Given the description of an element on the screen output the (x, y) to click on. 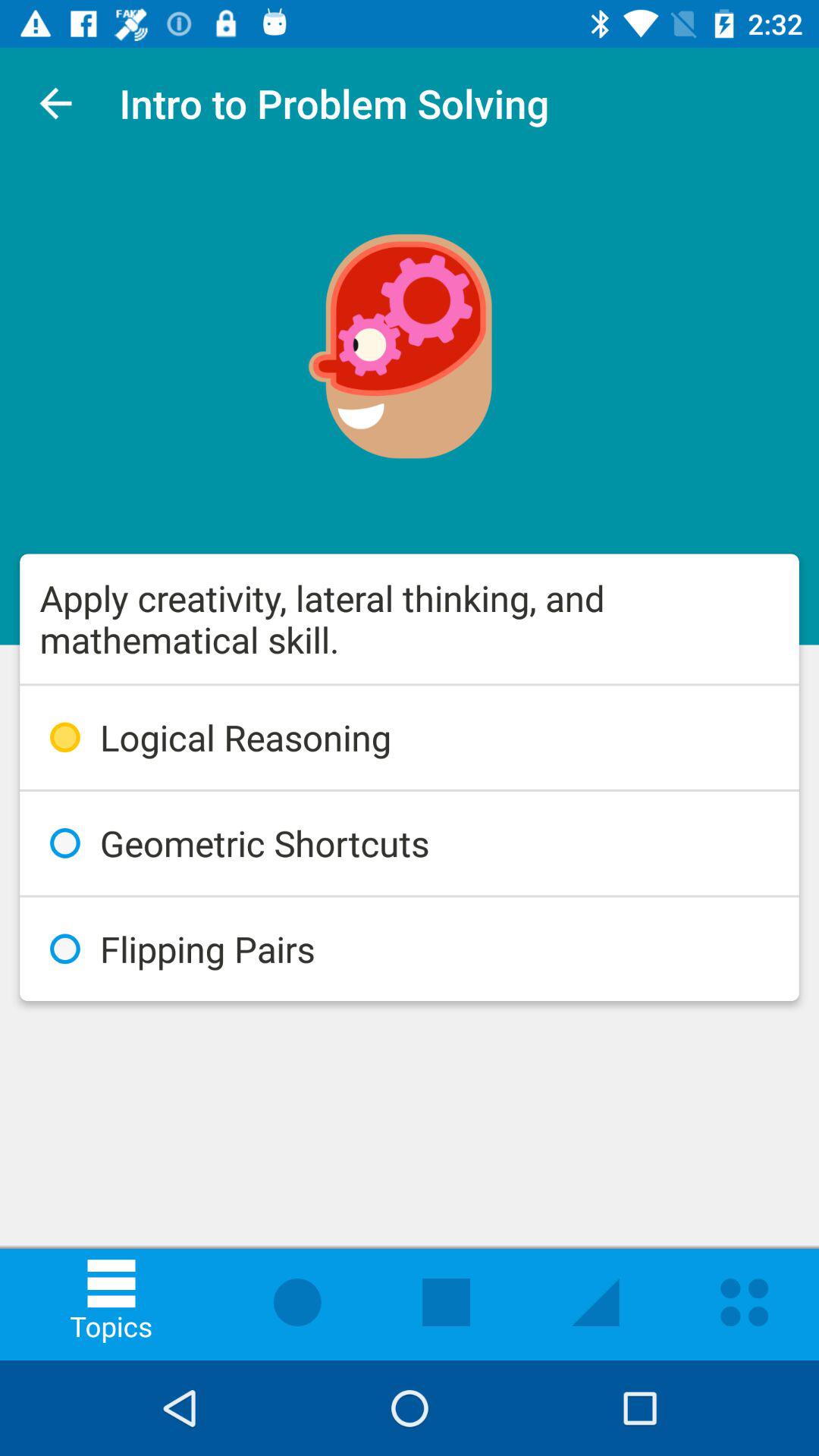
launch icon below the apply creativity lateral (409, 737)
